Given the description of an element on the screen output the (x, y) to click on. 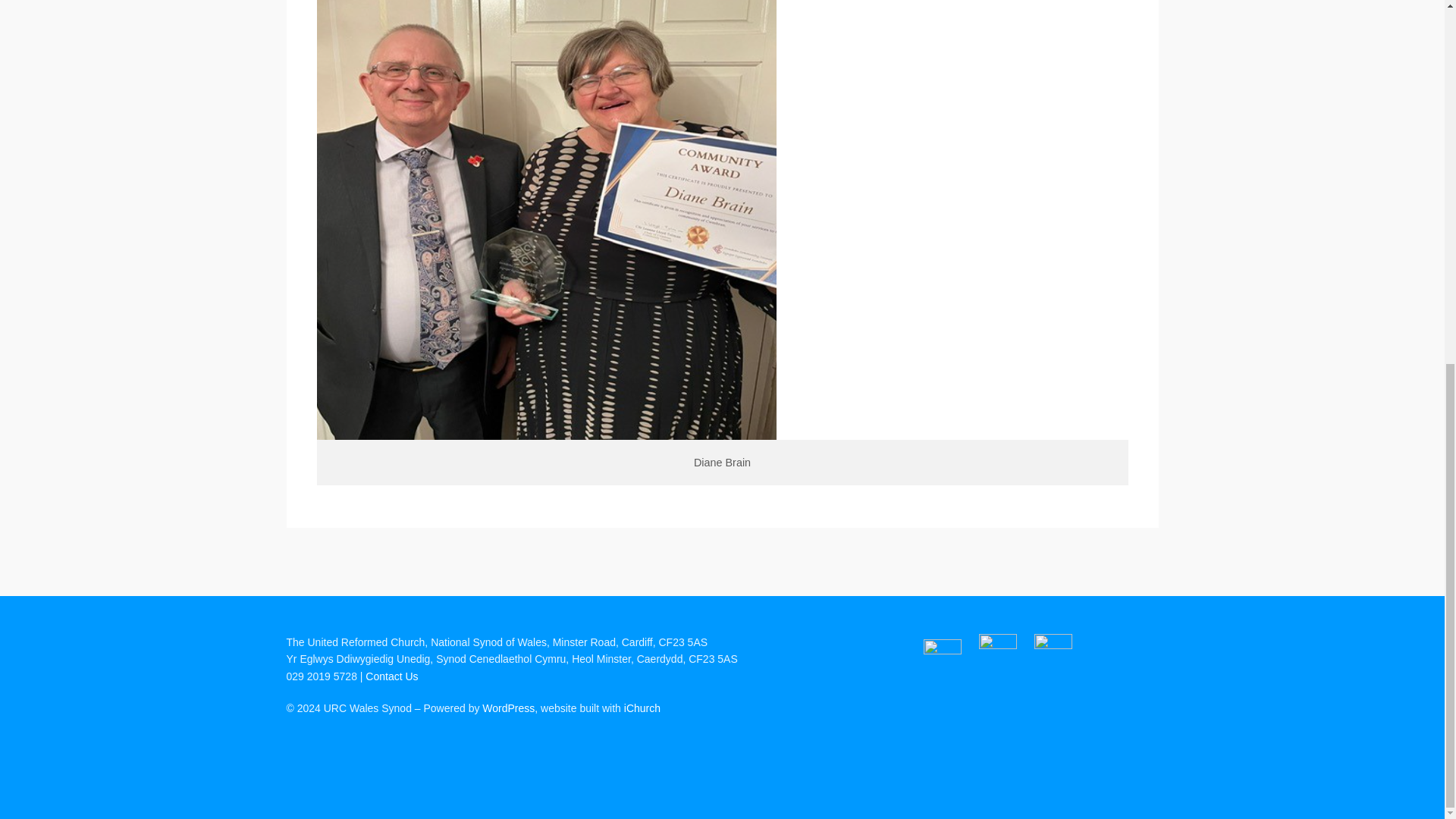
WordPress (507, 707)
WordPress (507, 707)
iChurch (642, 707)
iChurch (642, 707)
Contact Us (391, 676)
